Given the description of an element on the screen output the (x, y) to click on. 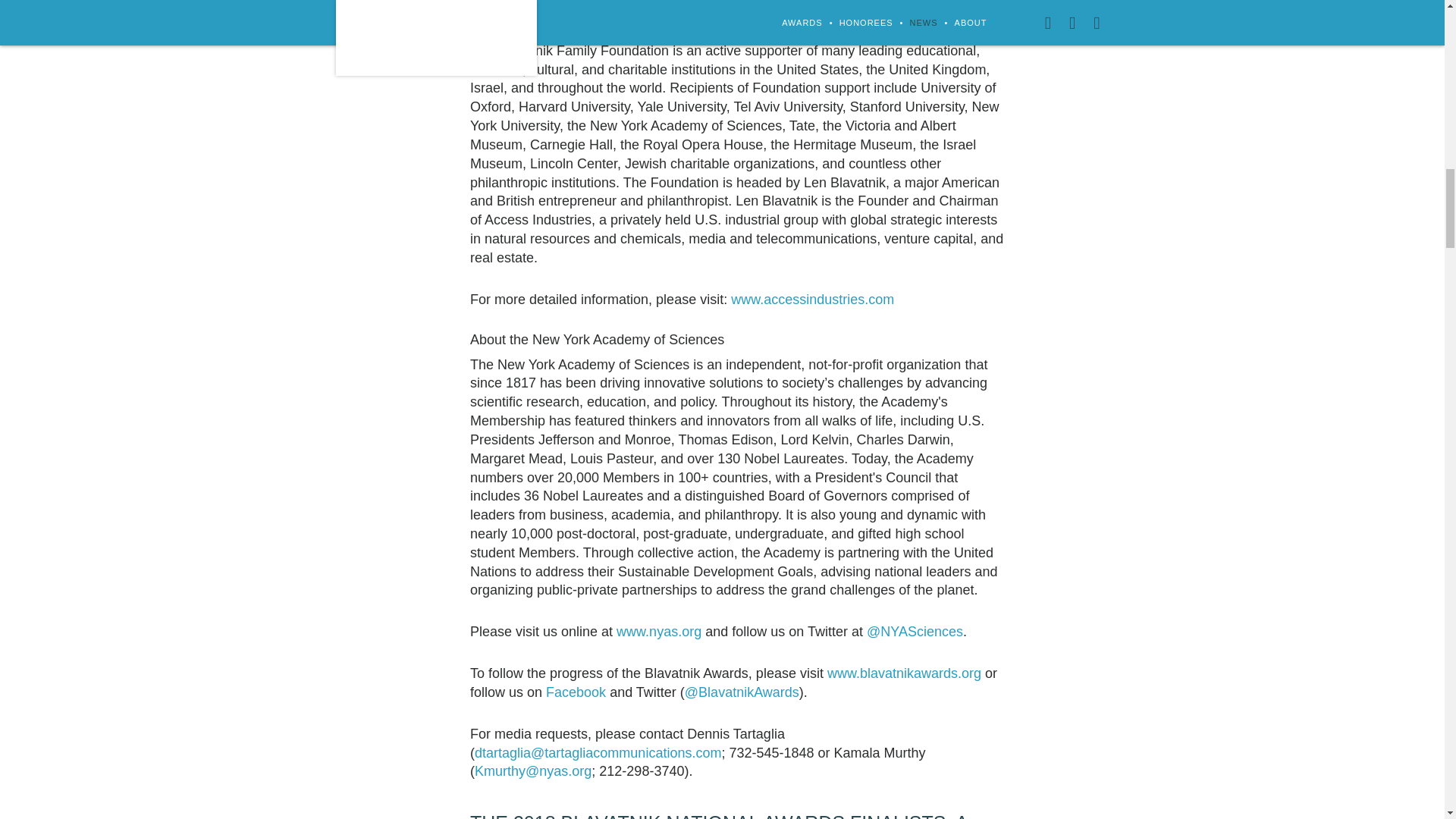
www.accessindustries.com (811, 299)
www.nyas.org (658, 631)
Facebook (575, 692)
www.blavatnikawards.org (904, 672)
